Given the description of an element on the screen output the (x, y) to click on. 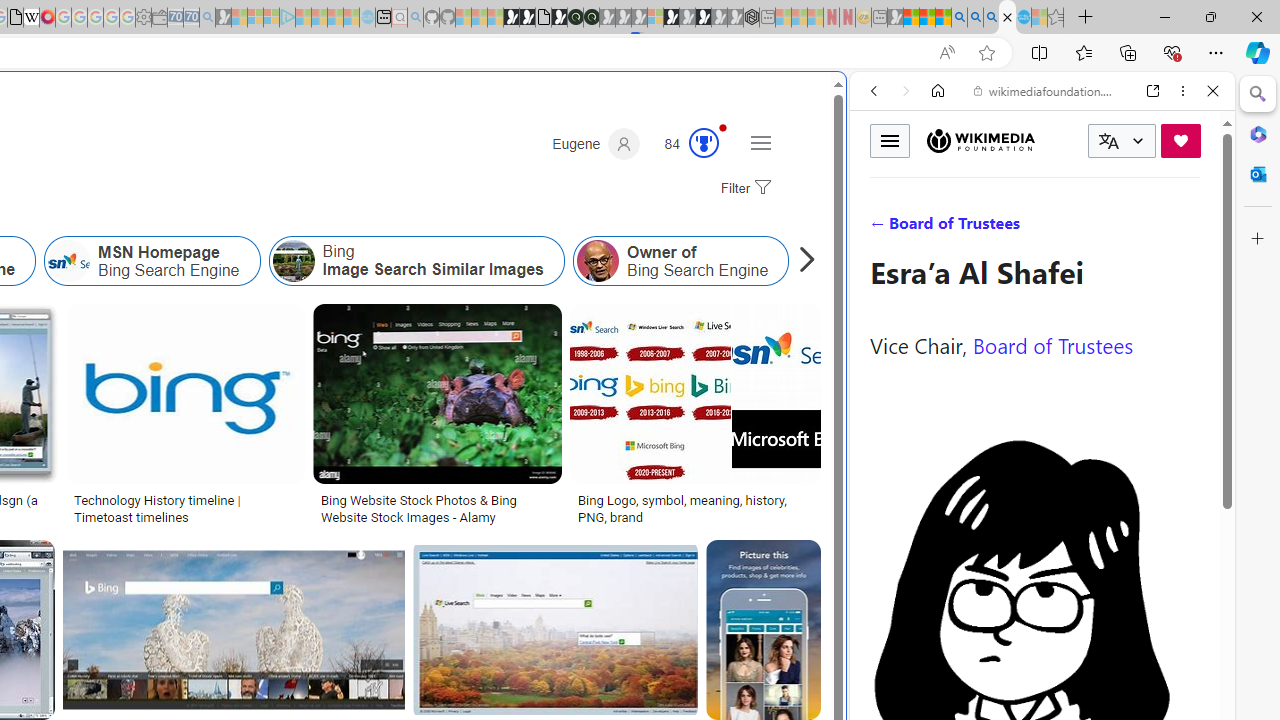
Bing Image Search Similar Images (292, 260)
AutomationID: serp_medal_svg (703, 142)
Target page - Wikipedia (31, 17)
Class: item col (890, 260)
WEB   (882, 228)
Search Filter, VIDEOS (1006, 228)
